Given the description of an element on the screen output the (x, y) to click on. 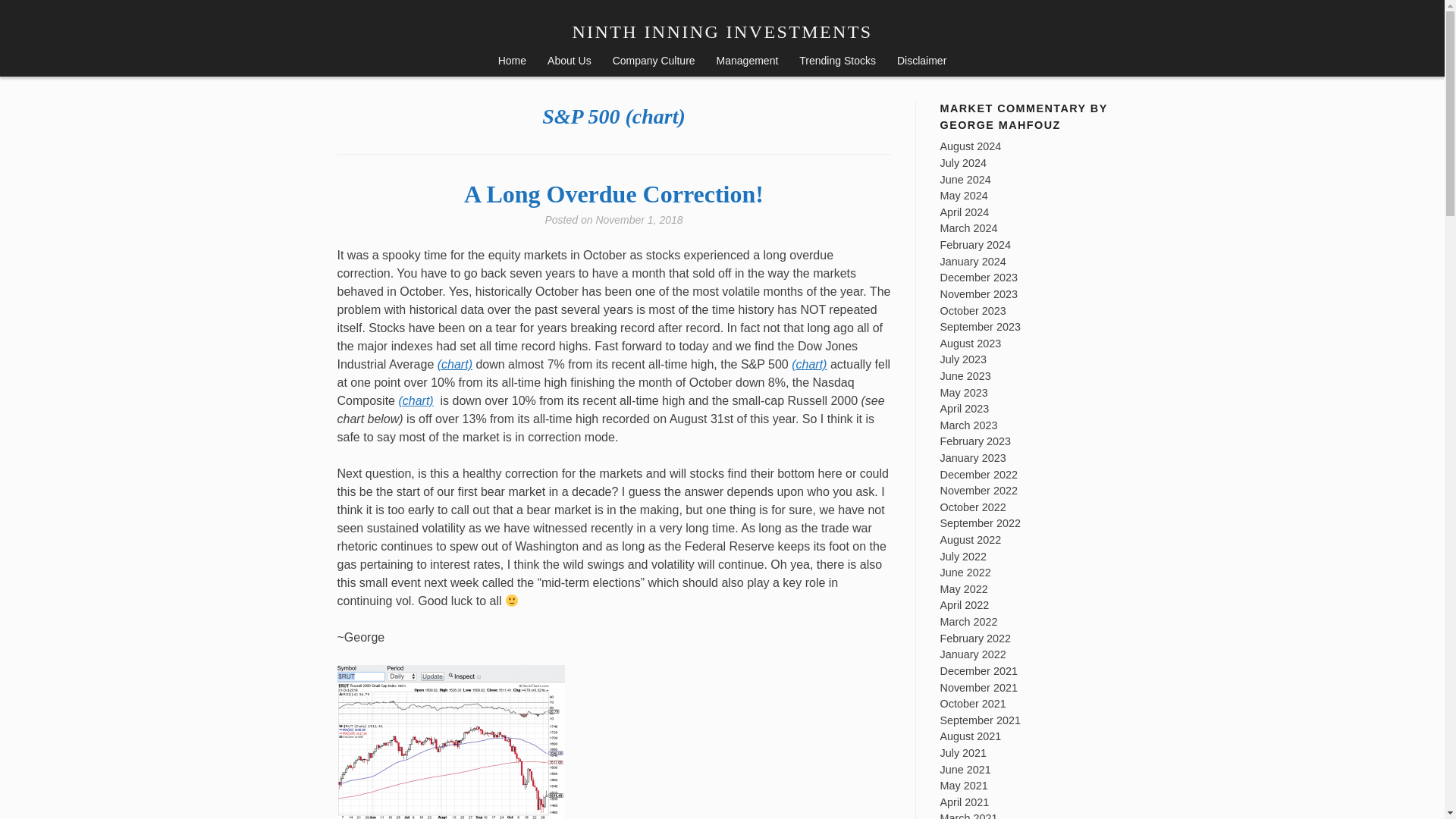
NINTH INNING INVESTMENTS (722, 31)
May 2024 (964, 195)
January 2024 (973, 261)
Home (512, 61)
Disclaimer (921, 61)
June 2024 (965, 179)
August 2024 (970, 146)
Trending Stocks (837, 61)
Company Culture (654, 61)
July 2024 (963, 162)
